Given the description of an element on the screen output the (x, y) to click on. 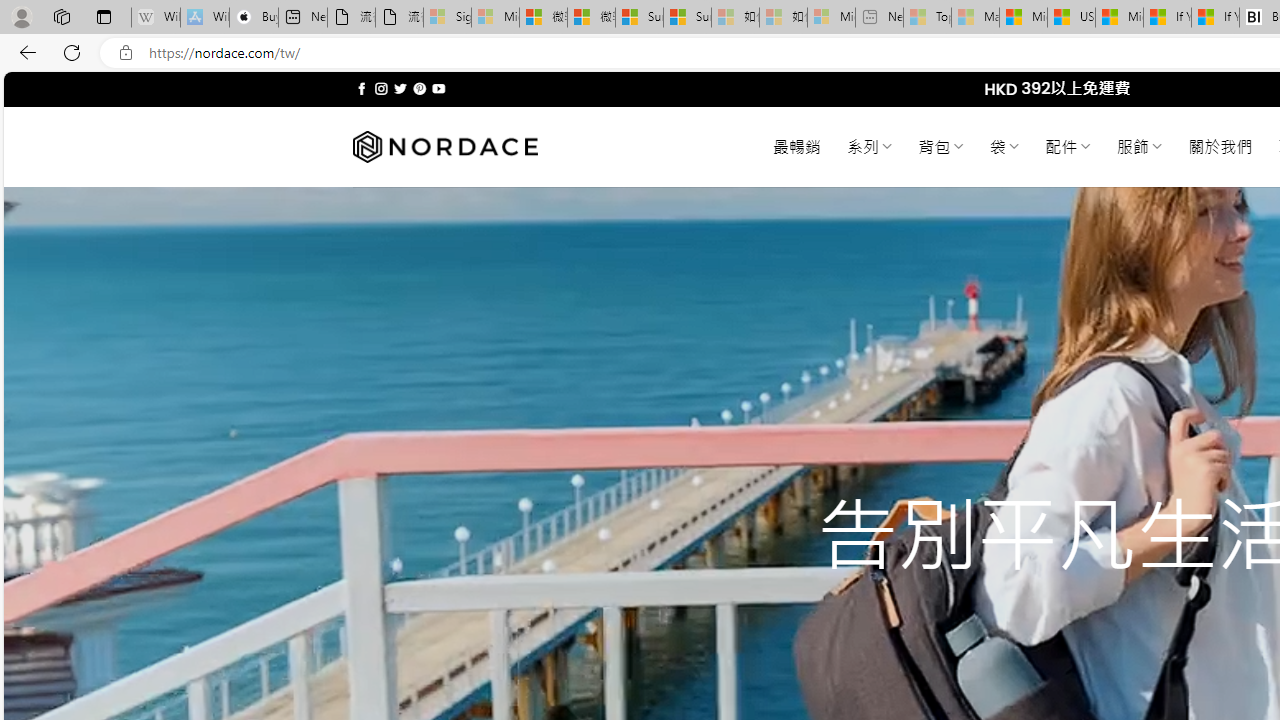
Tab actions menu (104, 16)
US Heat Deaths Soared To Record High Last Year (1071, 17)
New tab (302, 17)
View site information (125, 53)
Microsoft Start (1119, 17)
Wikipedia - Sleeping (155, 17)
Sign in to your Microsoft account - Sleeping (447, 17)
